Given the description of an element on the screen output the (x, y) to click on. 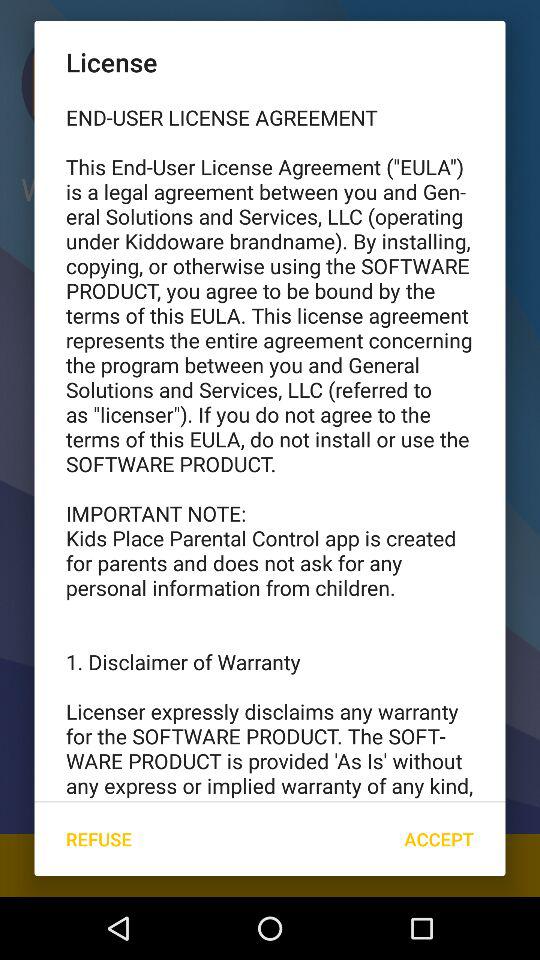
jump until the refuse icon (98, 838)
